Given the description of an element on the screen output the (x, y) to click on. 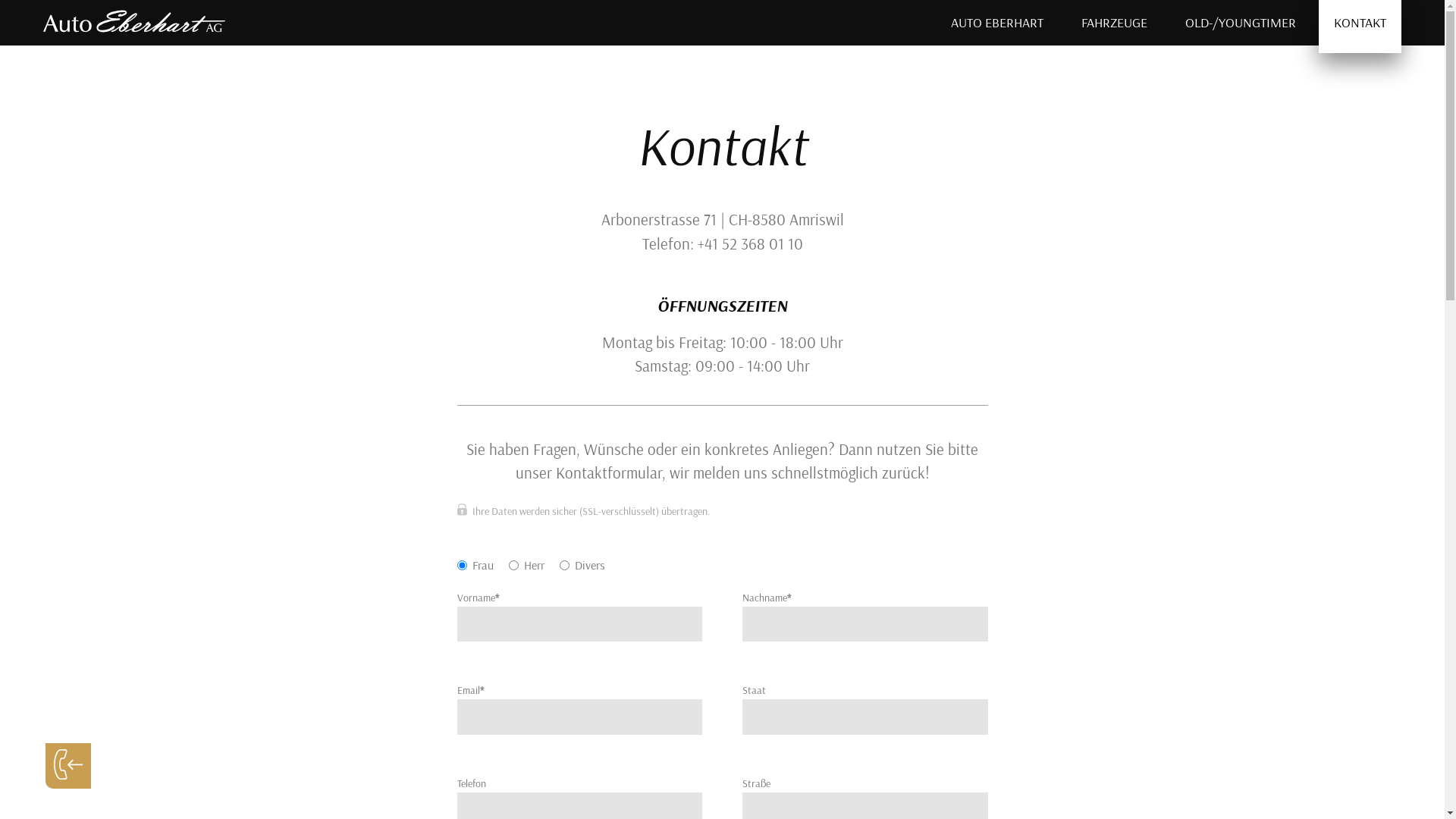
FAHRZEUGE Element type: text (1114, 22)
+ Element type: text (90, 727)
direkt zur Navigation Element type: text (48, 6)
KONTAKT Element type: text (1359, 26)
AUTO EBERHART Element type: text (996, 22)
direkt zum Inhalt Element type: text (39, 6)
OLD-/YOUNGTIMER Element type: text (1240, 22)
